Given the description of an element on the screen output the (x, y) to click on. 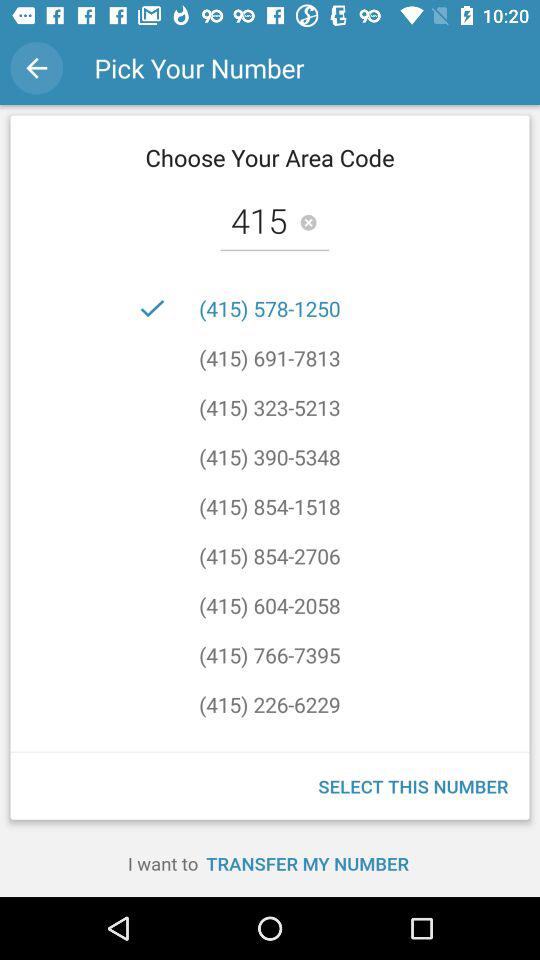
swipe until the (415) 347-9106 icon (269, 729)
